Given the description of an element on the screen output the (x, y) to click on. 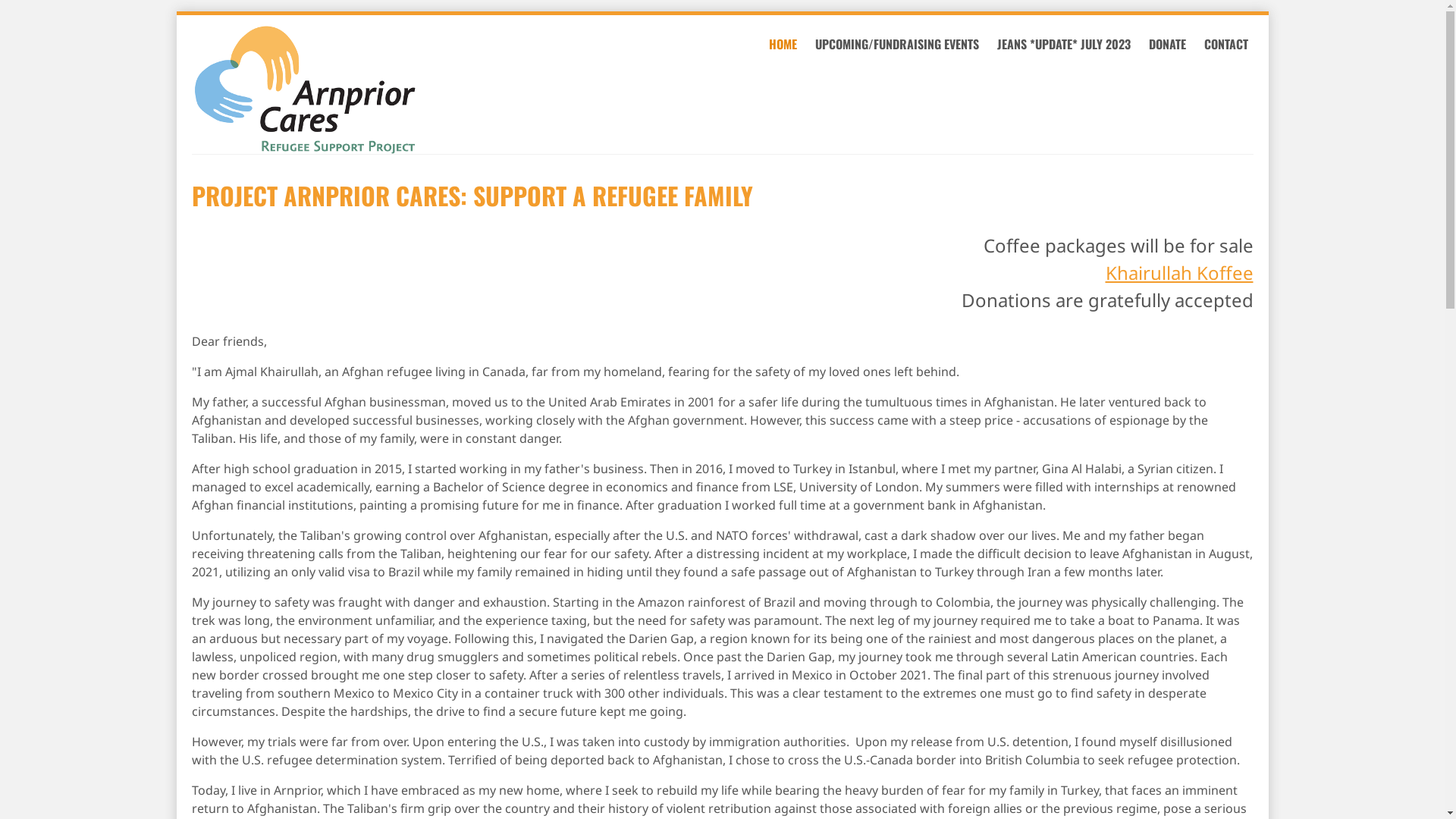
Project Arnprior Cares: Support a Refugee Family  Element type: hover (354, 88)
JEANS *UPDATE* JULY 2023 Element type: text (1062, 44)
CONTACT Element type: text (1224, 44)
DONATE Element type: text (1165, 44)
HOME Element type: text (781, 44)
Khairullah Koffee Element type: text (1179, 272)
